Given the description of an element on the screen output the (x, y) to click on. 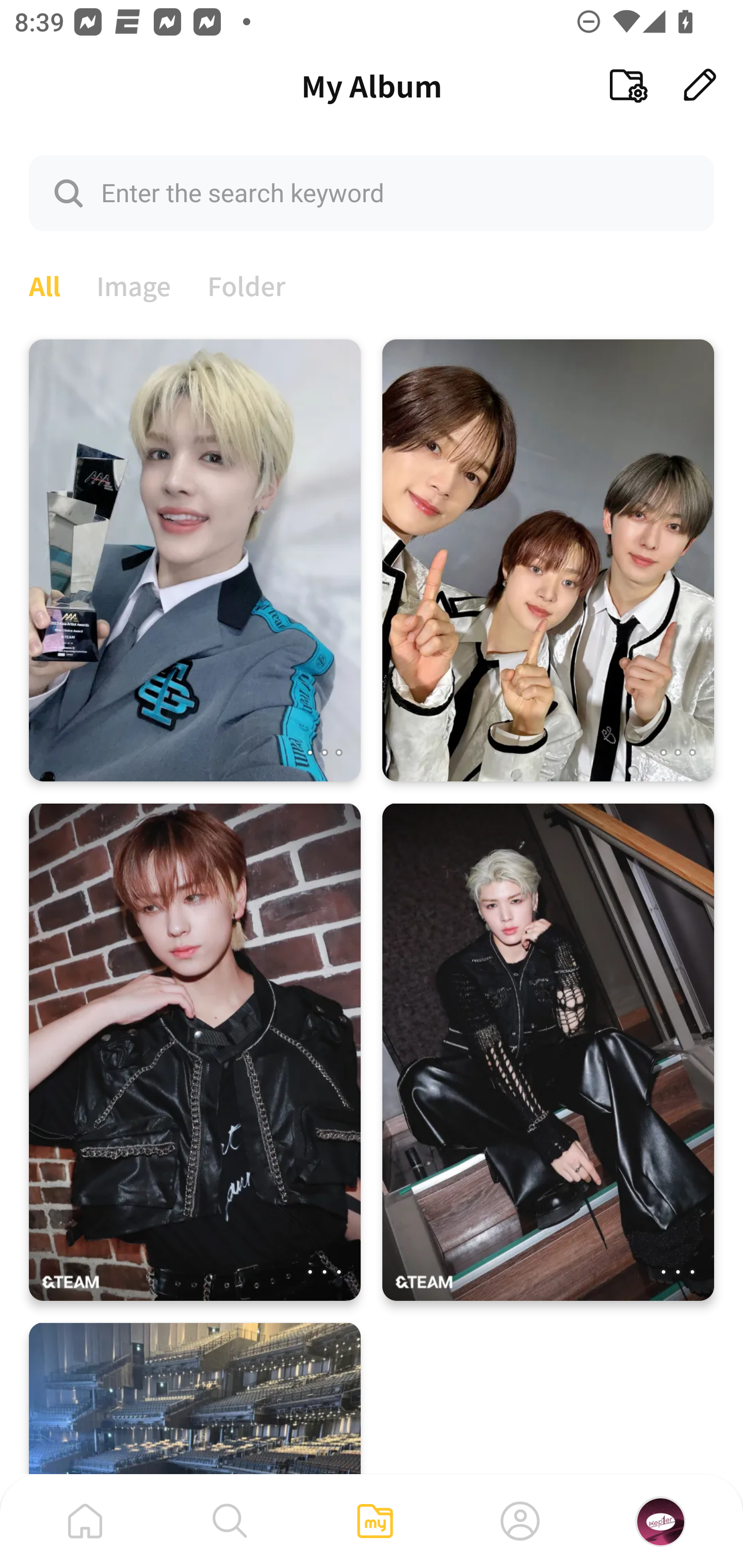
Enter the search keyword (371, 192)
All (44, 284)
Image (133, 284)
Folder (246, 284)
